Given the description of an element on the screen output the (x, y) to click on. 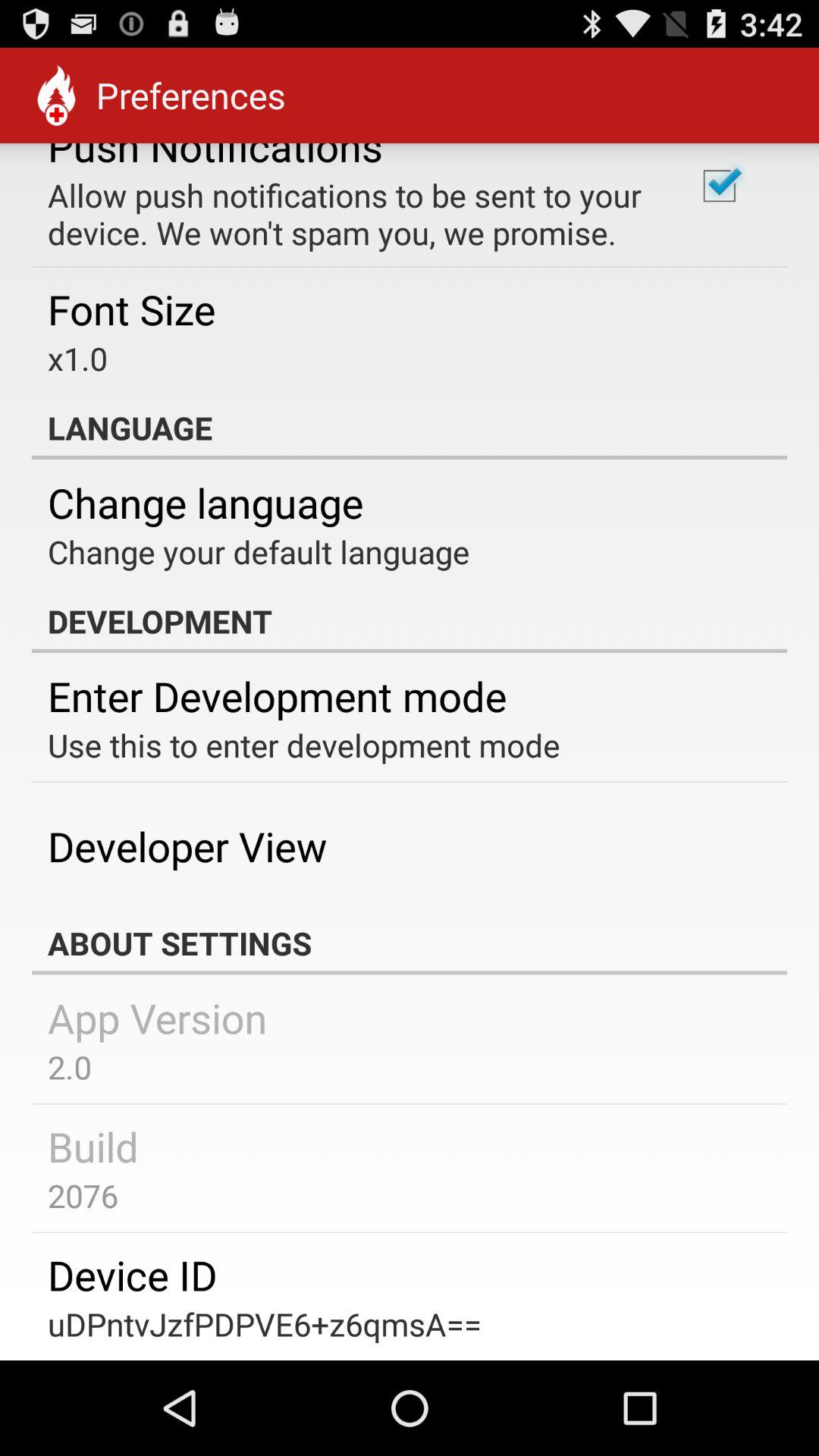
open the app below about settings icon (157, 1017)
